Given the description of an element on the screen output the (x, y) to click on. 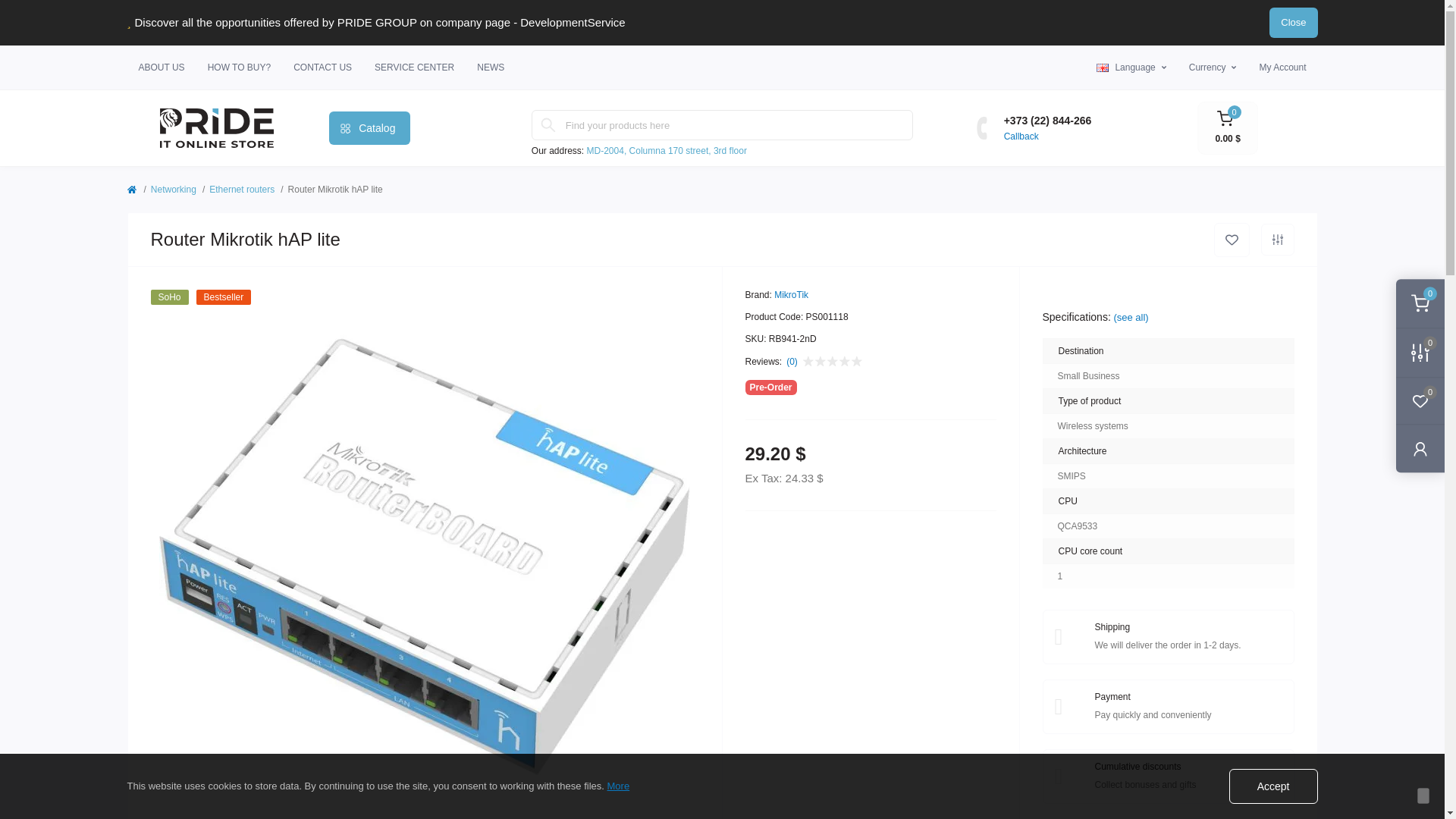
Language (1131, 67)
Compare this Product (1277, 239)
Catalog (369, 127)
SERVICE CENTER (414, 67)
Cart (1226, 127)
HOW TO BUY? (239, 67)
ABOUT US (161, 67)
NEWS (490, 67)
Networking (173, 189)
My Account (1282, 67)
Close (1293, 22)
Add to Wish List (1230, 239)
Ethernet routers (242, 189)
English (1102, 67)
